Given the description of an element on the screen output the (x, y) to click on. 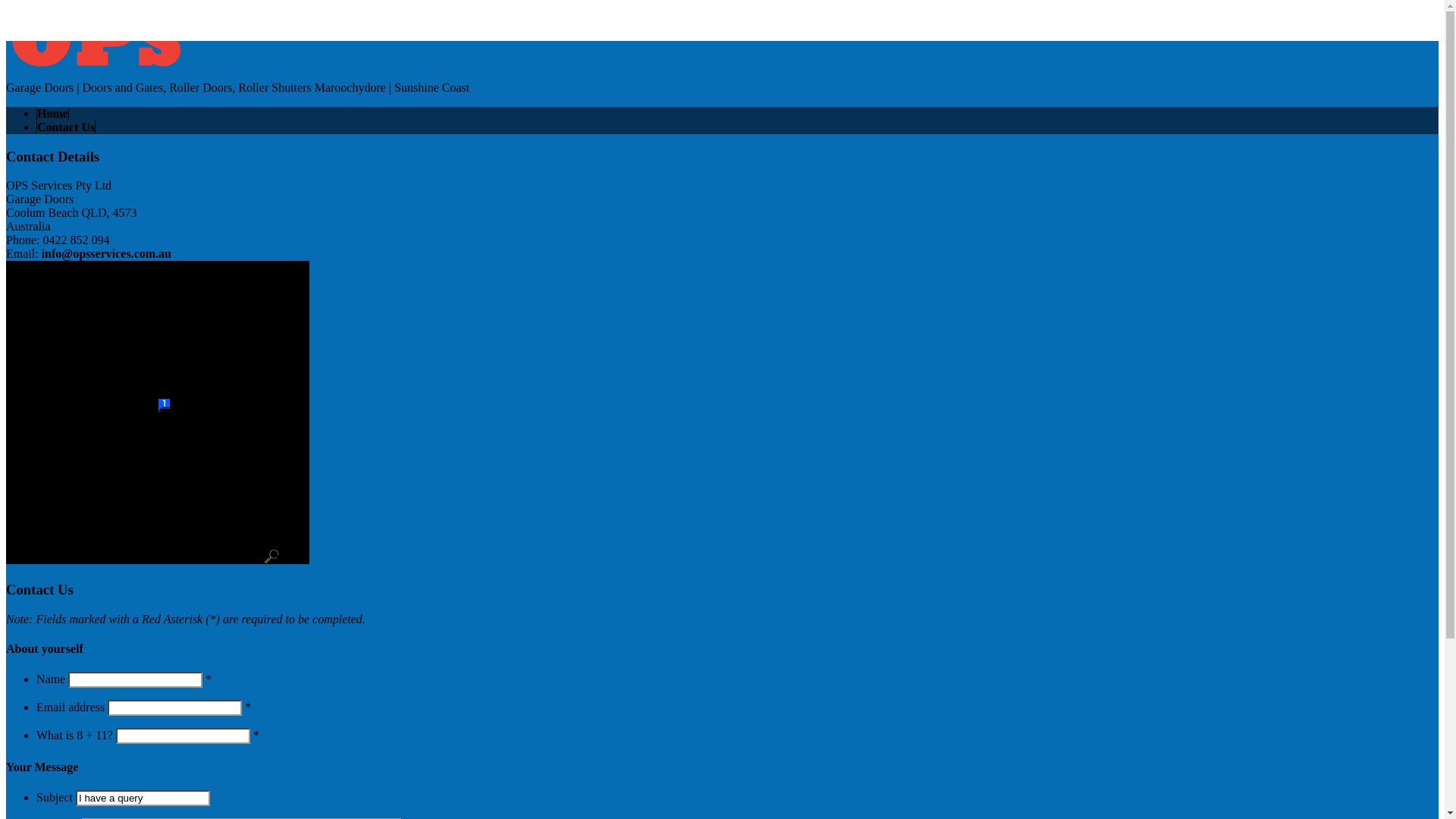
Contact Us Element type: text (65, 126)
0422 852 094 Element type: text (39, 12)
info@opsservices.com.au Element type: text (106, 253)
Home Element type: text (52, 112)
